Given the description of an element on the screen output the (x, y) to click on. 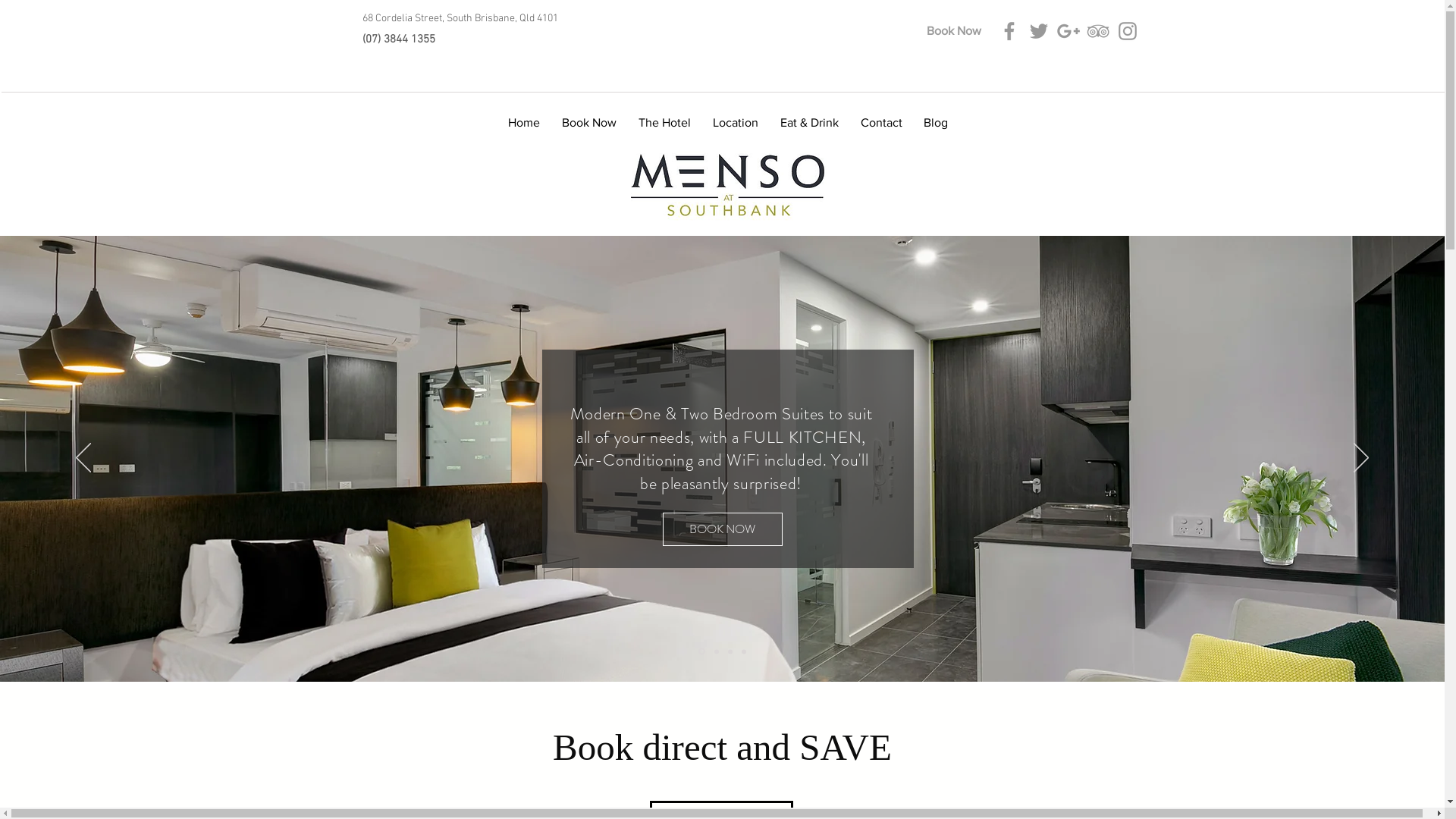
BOOK NOW Element type: text (722, 529)
Book Now Element type: text (954, 30)
Blog Element type: text (935, 115)
Home Element type: text (524, 115)
Location Element type: text (735, 115)
Eat & Drink Element type: text (808, 115)
Book Now Element type: text (588, 115)
The Hotel Element type: text (664, 115)
Contact Element type: text (880, 115)
